Given the description of an element on the screen output the (x, y) to click on. 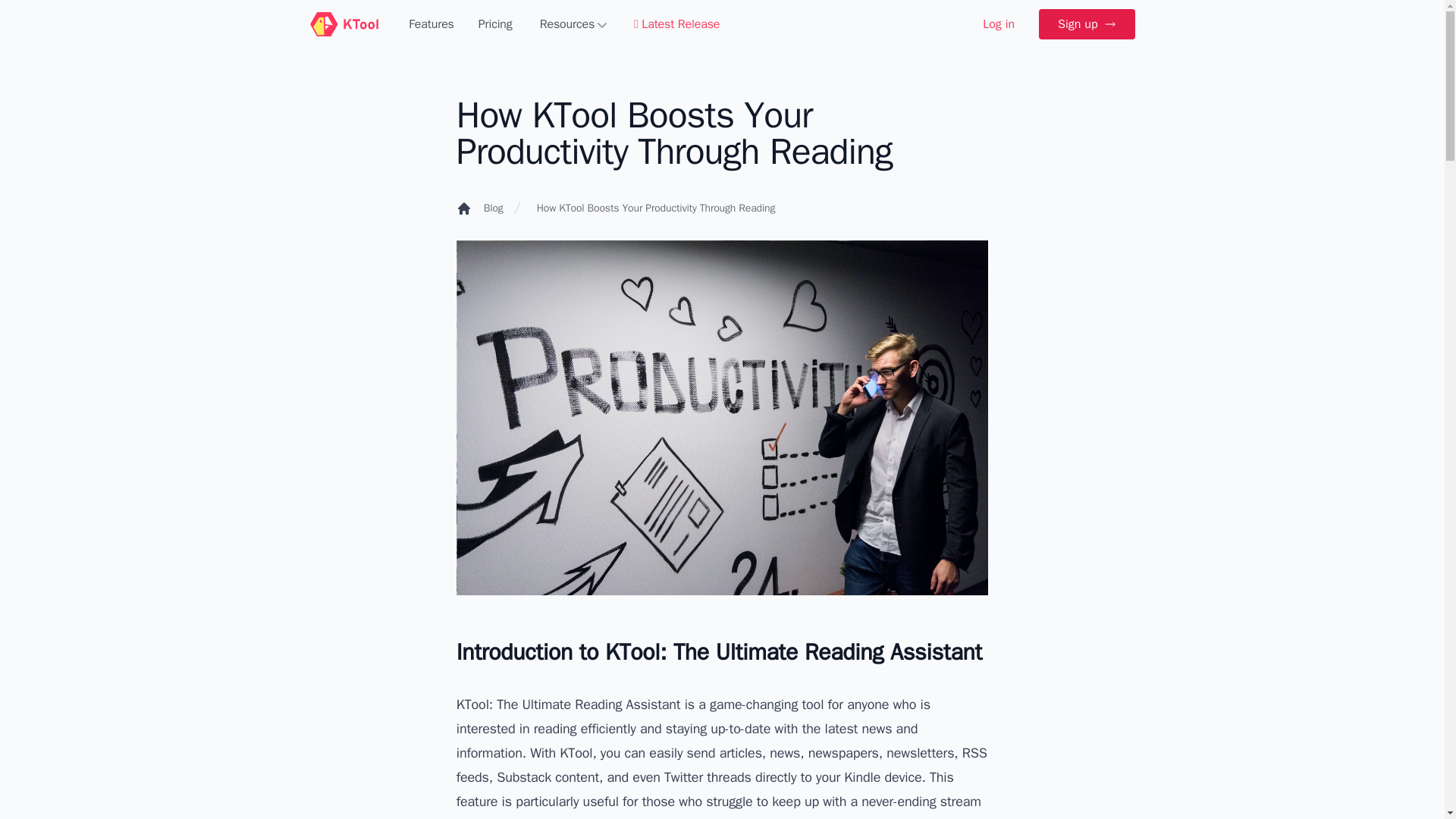
Resources (572, 24)
Features (430, 24)
How KTool Boosts Your Productivity Through Reading (656, 207)
Pricing (494, 24)
Sign up (1086, 24)
Log in (997, 23)
Blog (493, 207)
